Given the description of an element on the screen output the (x, y) to click on. 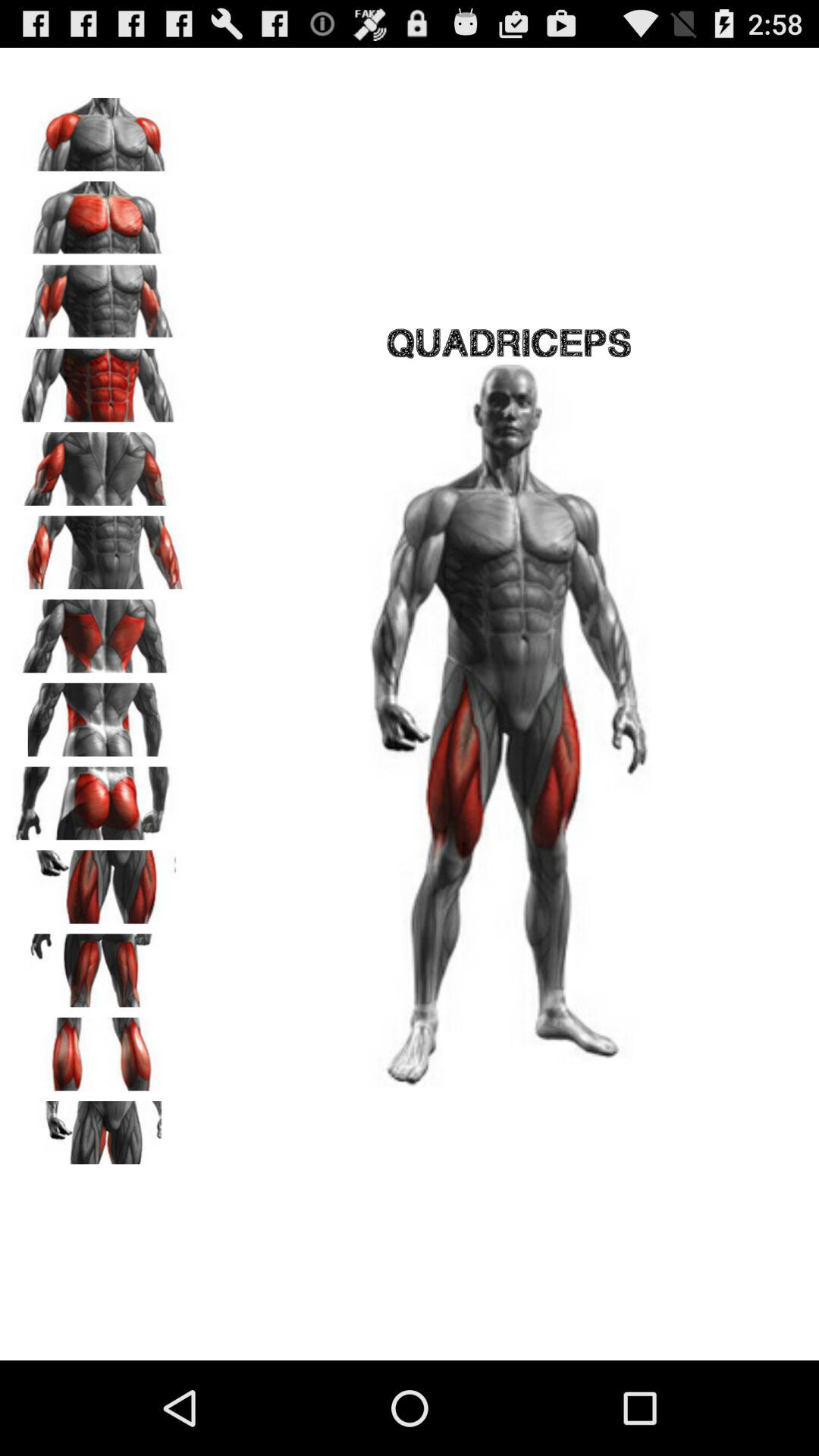
go for waist (99, 714)
